Given the description of an element on the screen output the (x, y) to click on. 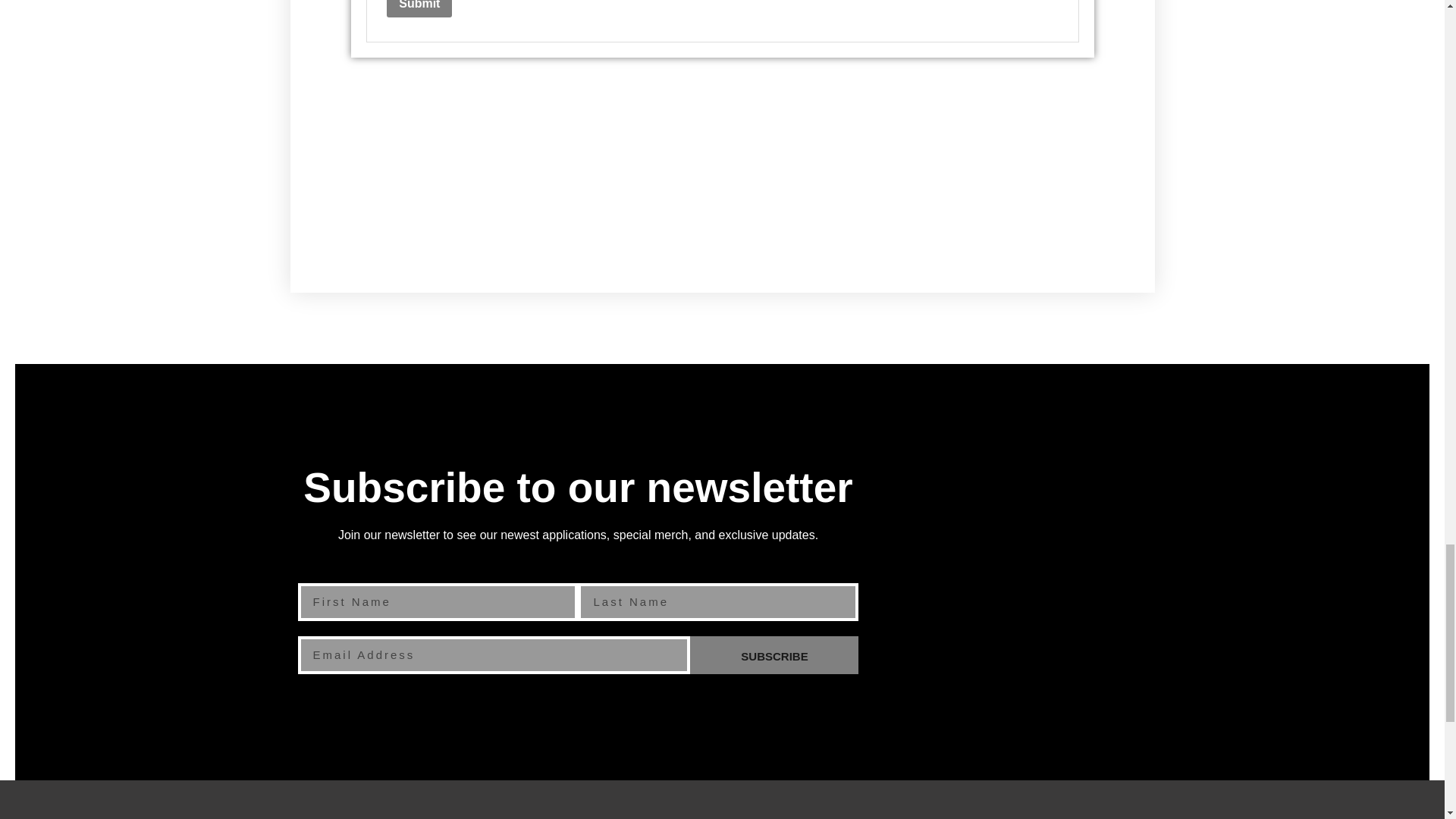
Submit (419, 8)
